Given the description of an element on the screen output the (x, y) to click on. 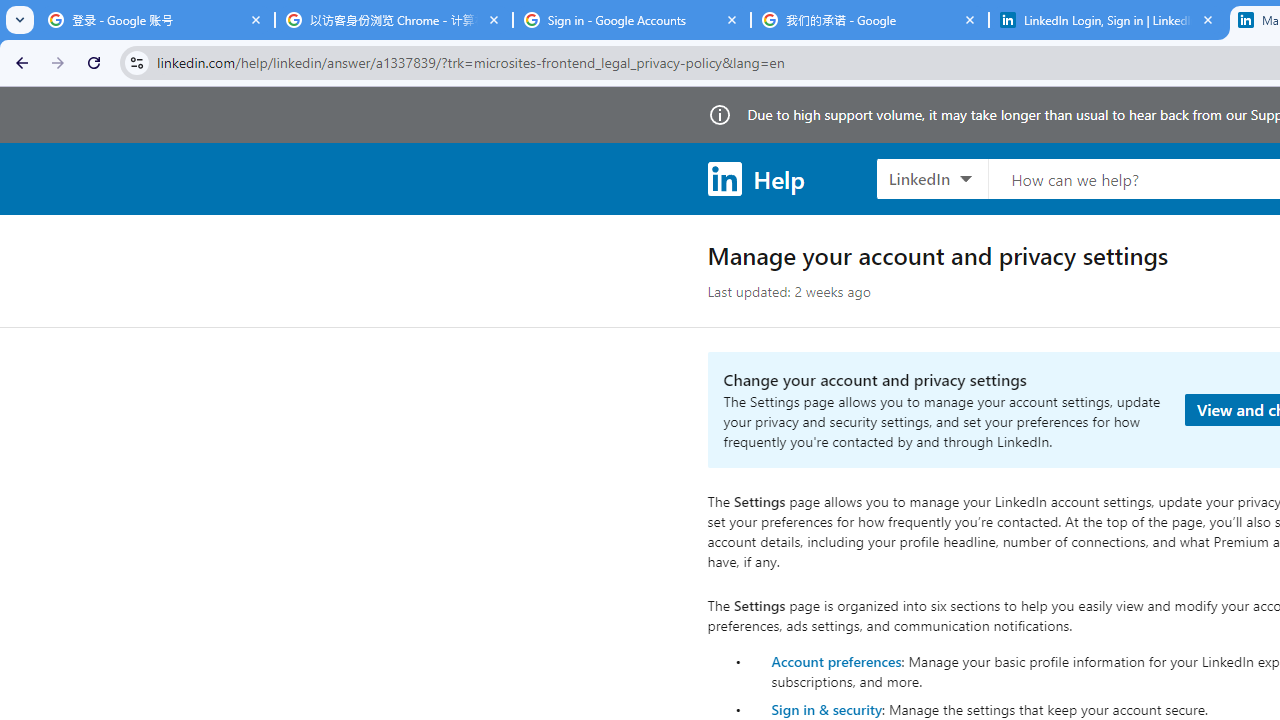
LinkedIn Login, Sign in | LinkedIn (1108, 20)
LinkedIn products to search, LinkedIn selected (932, 178)
Sign in - Google Accounts (632, 20)
Sign in & security (826, 709)
Account preferences (836, 660)
